Given the description of an element on the screen output the (x, y) to click on. 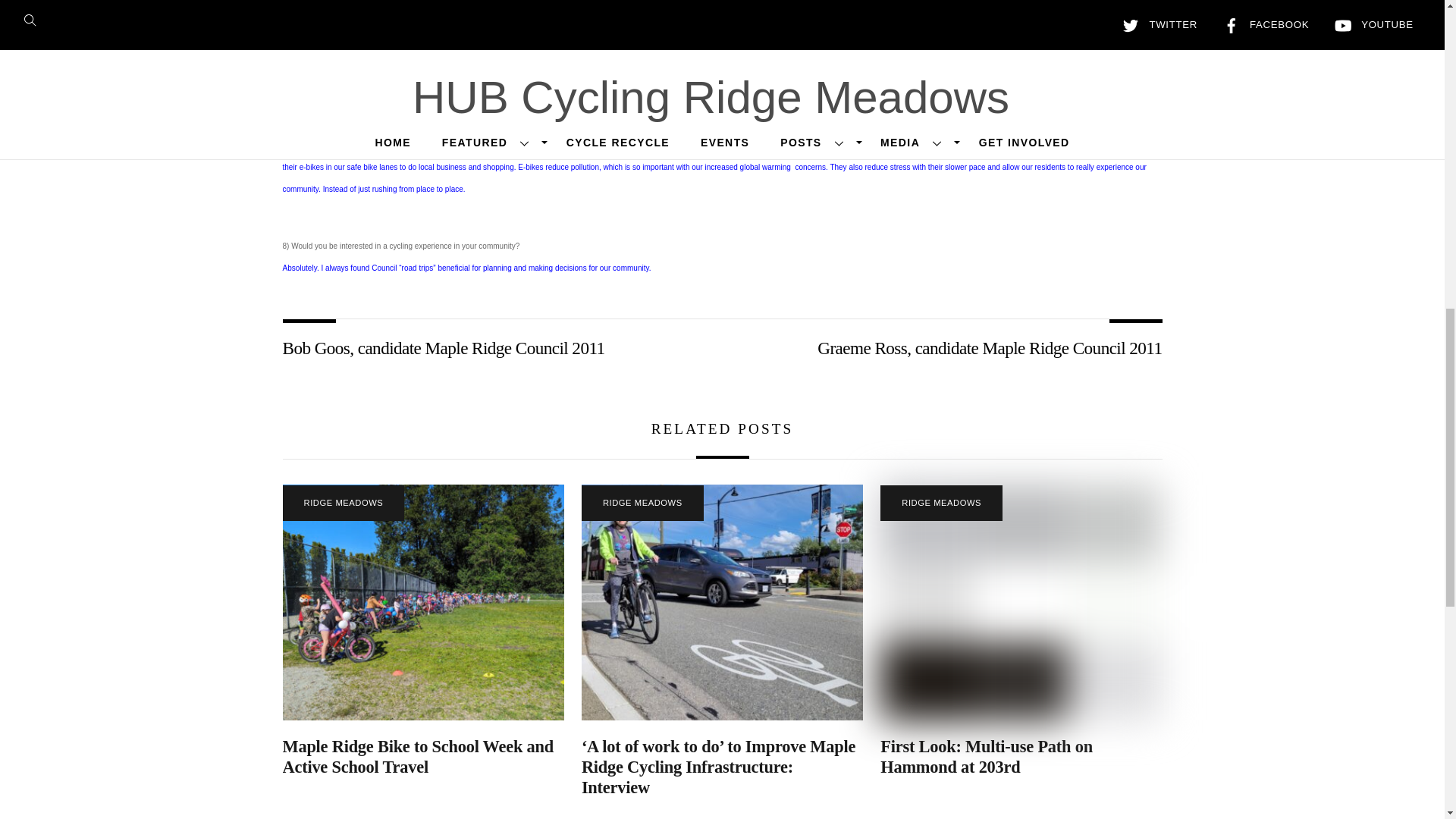
Bob Goos, candidate Maple Ridge Council 2011 (488, 347)
RIDGE MEADOWS (641, 502)
Bike to school 2024 Albion Elementary (422, 602)
maple ridge news interview (721, 602)
First Look: Multi-use Path on Hammond at 203rd (986, 756)
Hammond MUP 1-1 (1020, 602)
Graeme Ross, candidate Maple Ridge Council 2011 (954, 347)
RIDGE MEADOWS (343, 502)
RIDGE MEADOWS (941, 502)
Maple Ridge Bike to School Week and Active School Travel (417, 756)
